Given the description of an element on the screen output the (x, y) to click on. 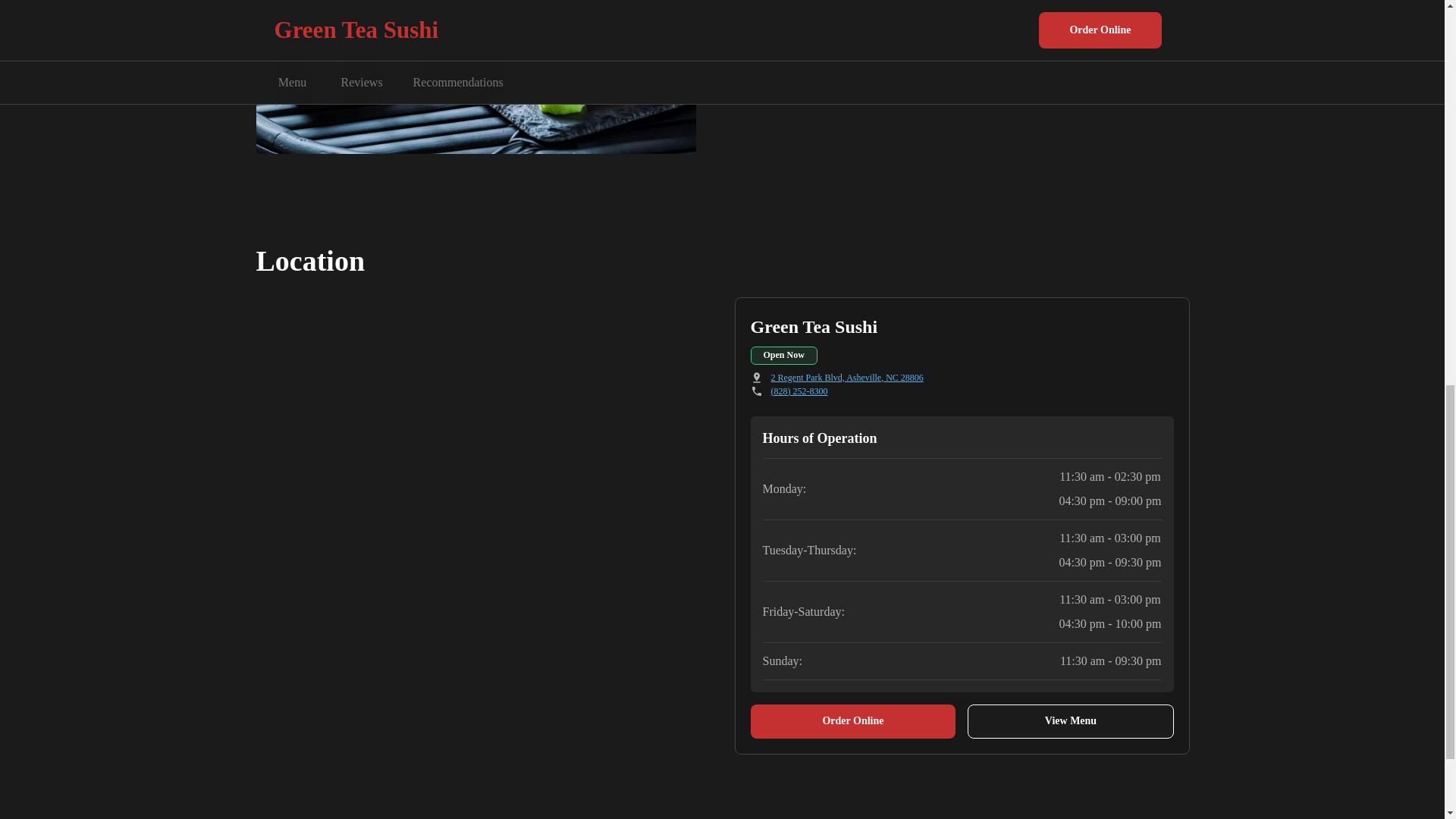
2 Regent Park Blvd, Asheville, NC 28806 (846, 377)
Order Online (853, 721)
View Menu (1070, 721)
